Given the description of an element on the screen output the (x, y) to click on. 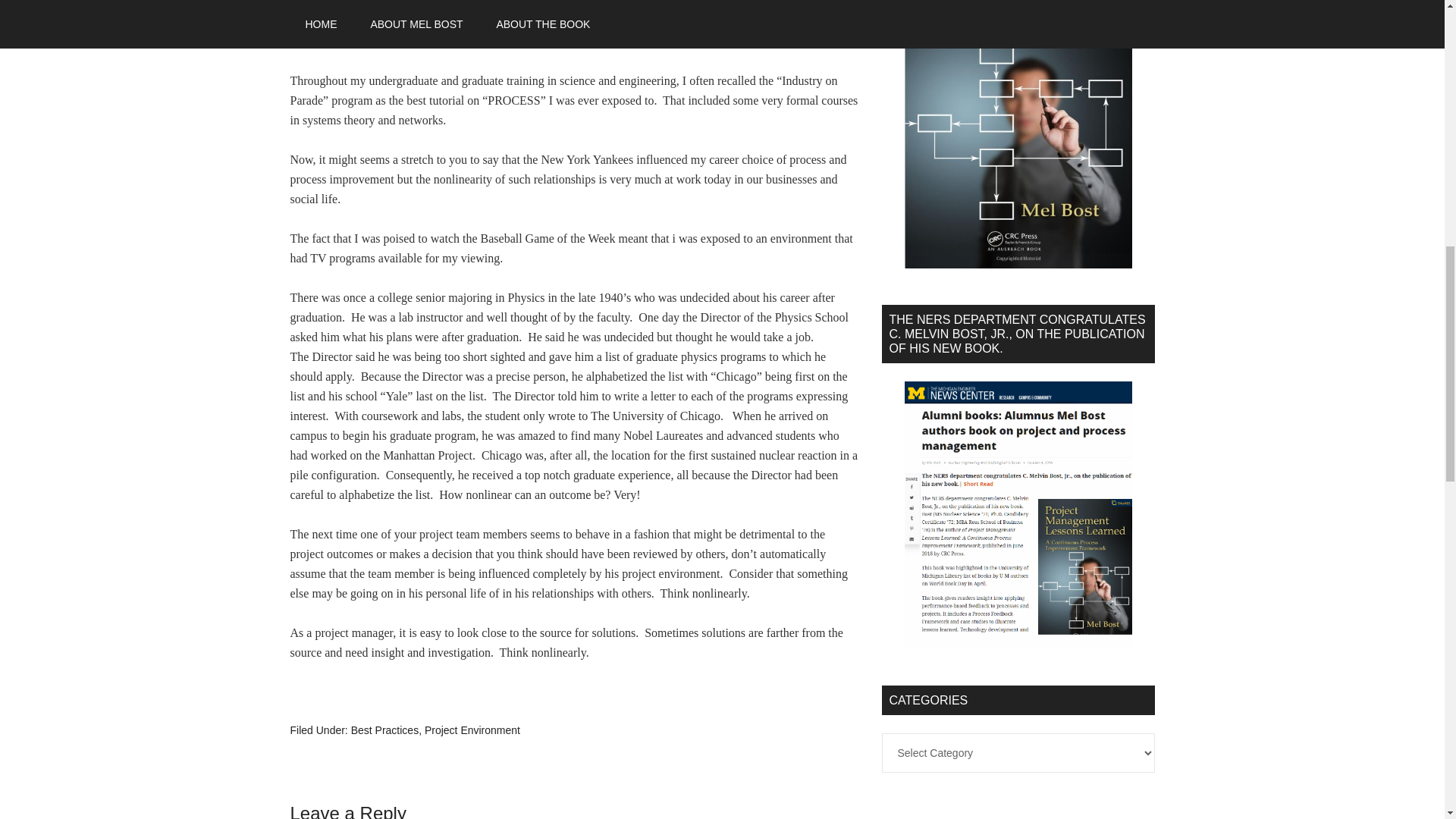
Project Environment (472, 729)
Best Practices (384, 729)
